Given the description of an element on the screen output the (x, y) to click on. 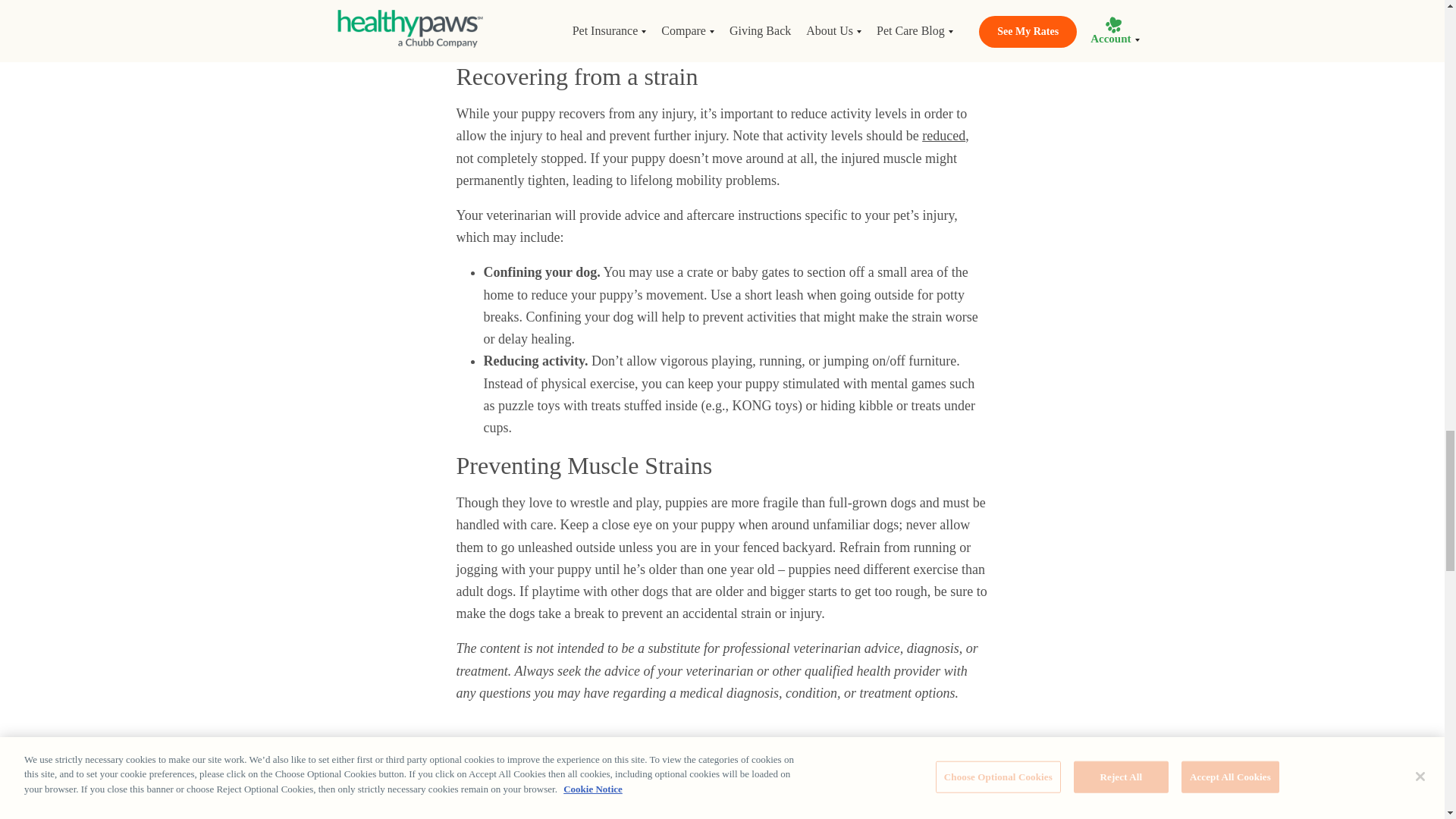
Share Post on Twitter (498, 804)
Share Post over Email (531, 804)
